Given the description of an element on the screen output the (x, y) to click on. 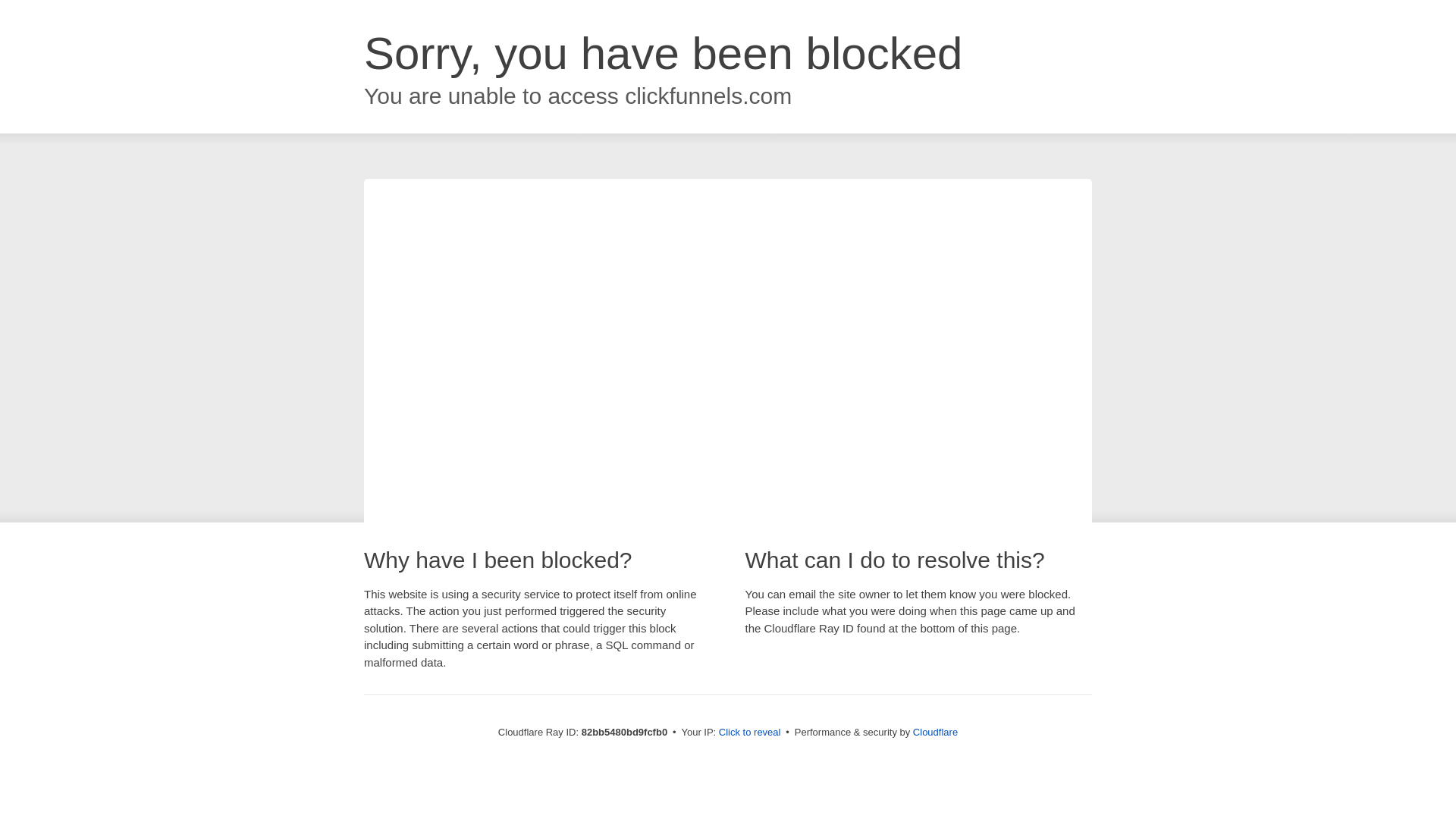
Click to reveal Element type: text (749, 732)
Cloudflare Element type: text (935, 731)
